Given the description of an element on the screen output the (x, y) to click on. 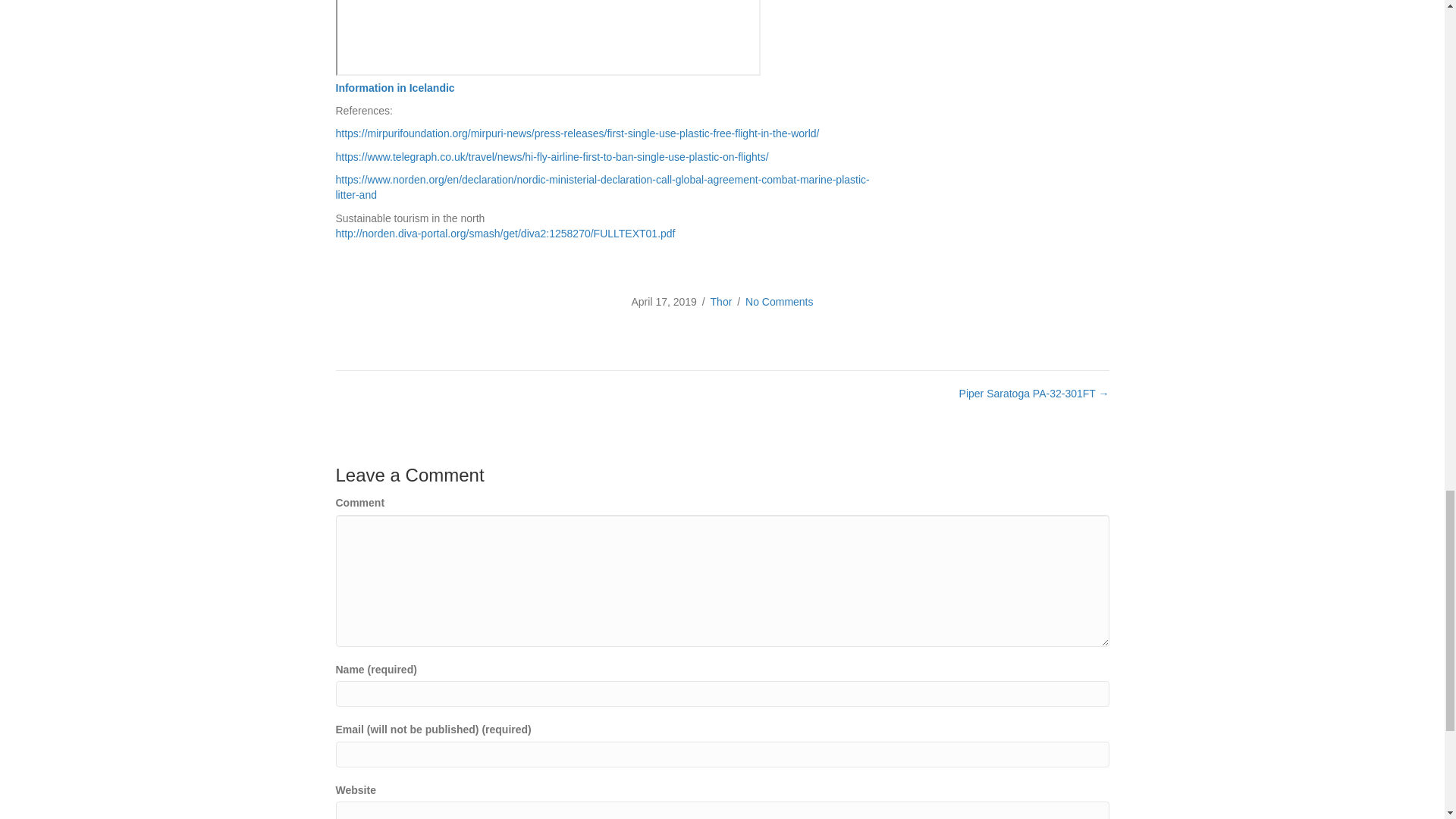
Information in Icelandic (394, 87)
Thor (721, 301)
No Comments (778, 301)
